Given the description of an element on the screen output the (x, y) to click on. 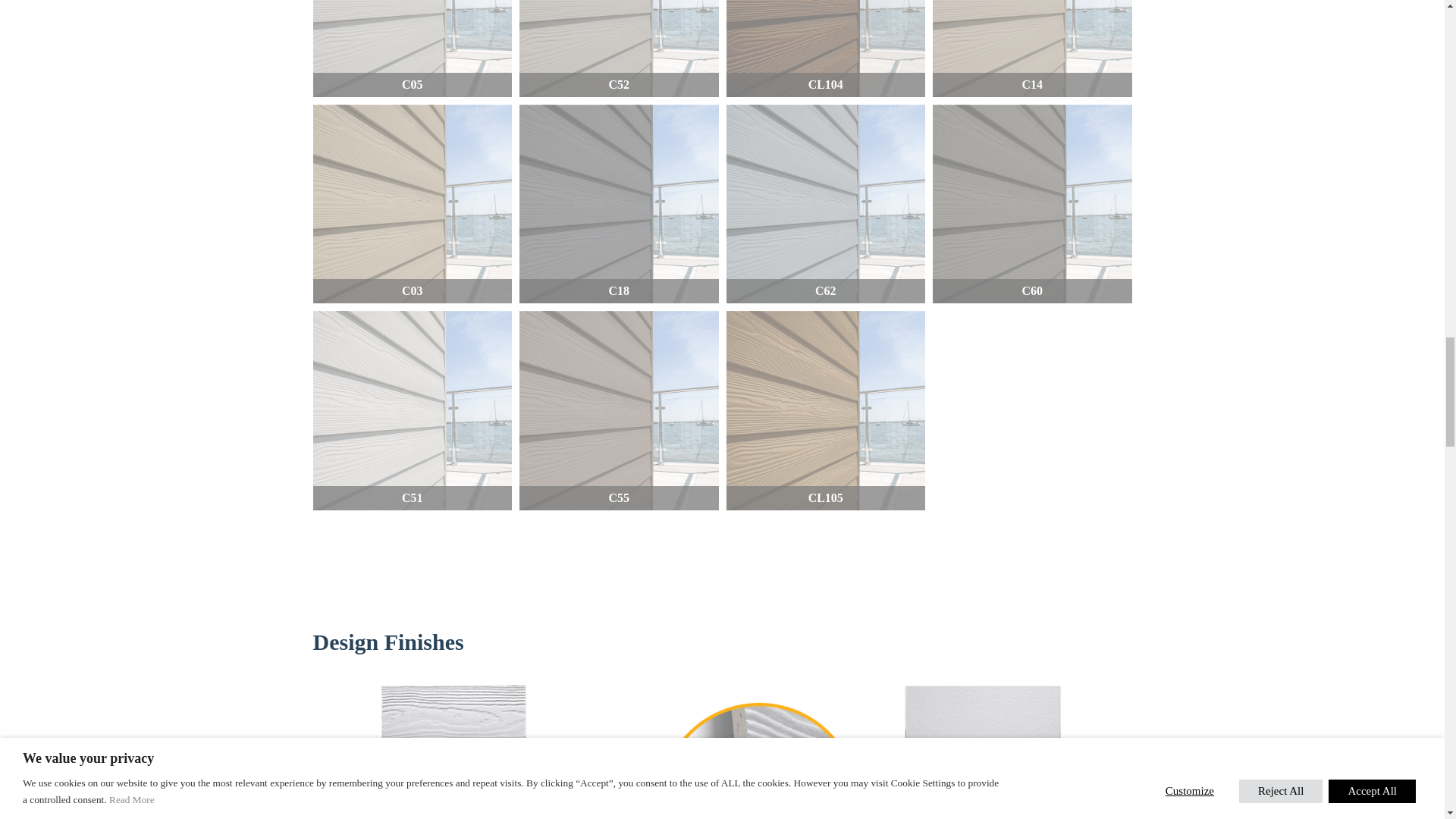
C60 (1032, 203)
C51 (412, 410)
C18 (619, 203)
C05 (412, 48)
C14 (1032, 48)
C55 (619, 410)
C52 (619, 48)
C62 (826, 203)
CL104 (826, 48)
CL105 (826, 410)
C03 (412, 203)
